Given the description of an element on the screen output the (x, y) to click on. 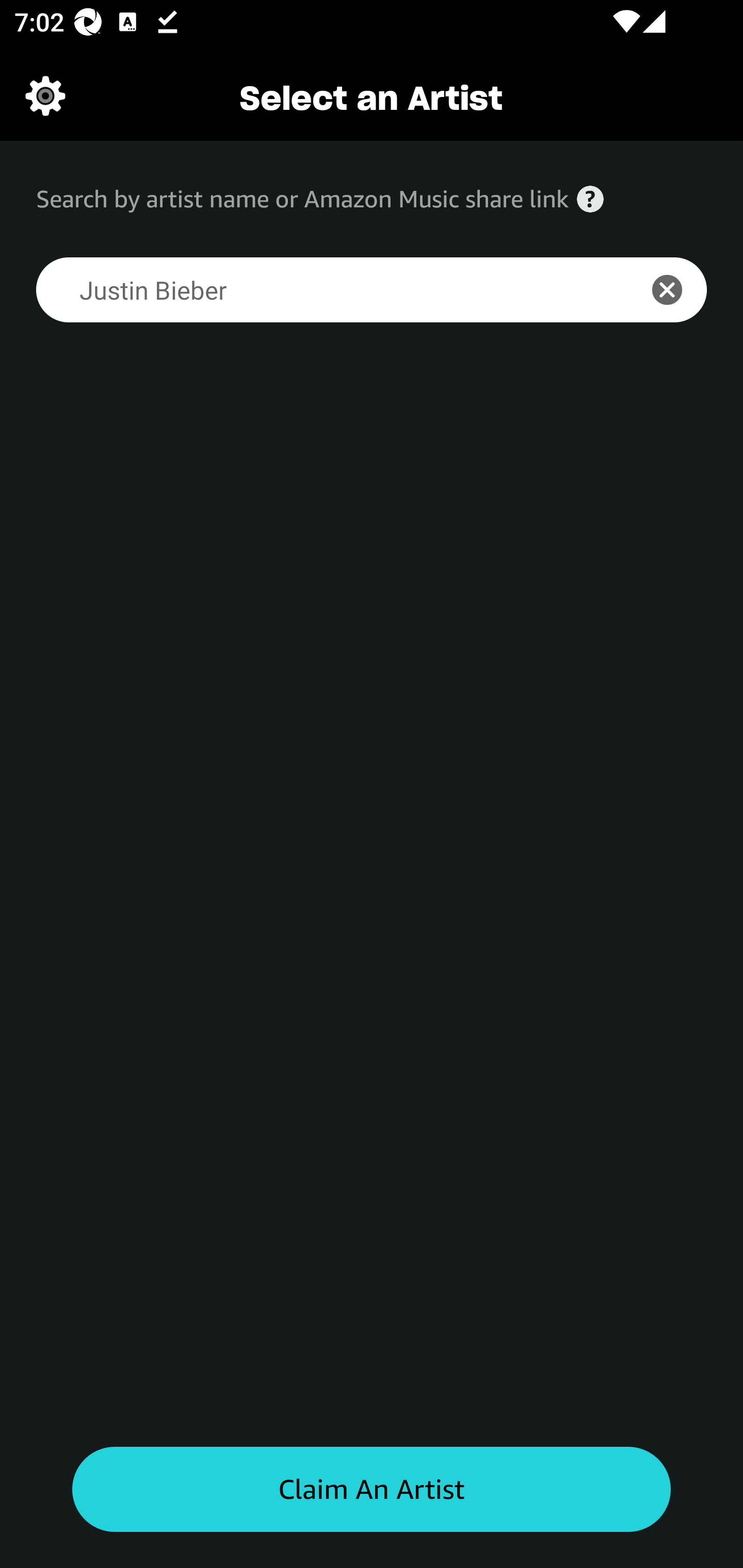
Help  icon (589, 199)
Justin Bieber Search for an artist search bar (324, 290)
 icon (677, 290)
Claim an artist button Claim An Artist (371, 1489)
